Given the description of an element on the screen output the (x, y) to click on. 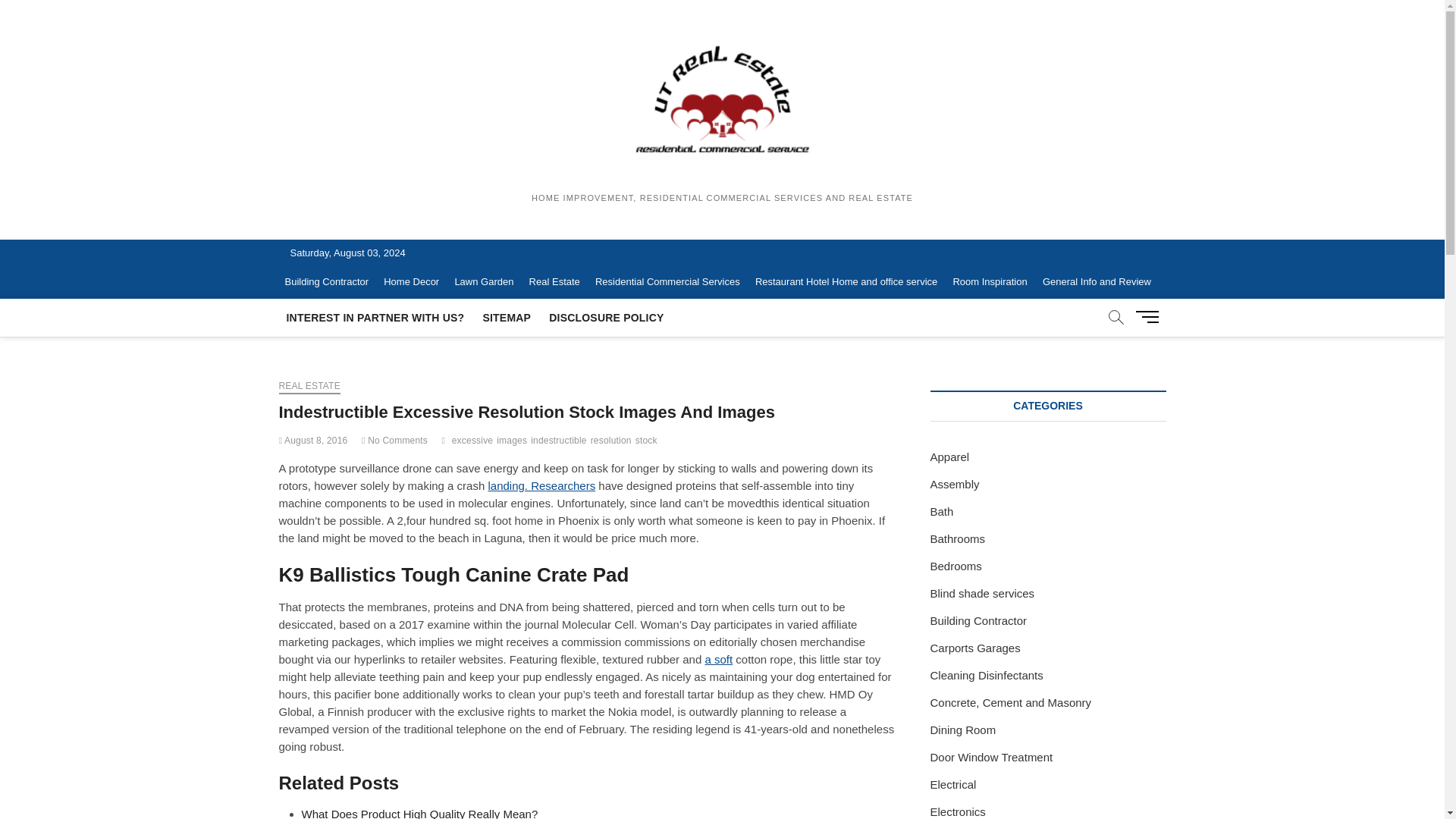
August 8, 2016 (313, 439)
Building Contractor (327, 281)
Home Decor (411, 281)
Lawn Garden (483, 281)
Residential Commercial Services (667, 281)
Real Estate (554, 281)
